Given the description of an element on the screen output the (x, y) to click on. 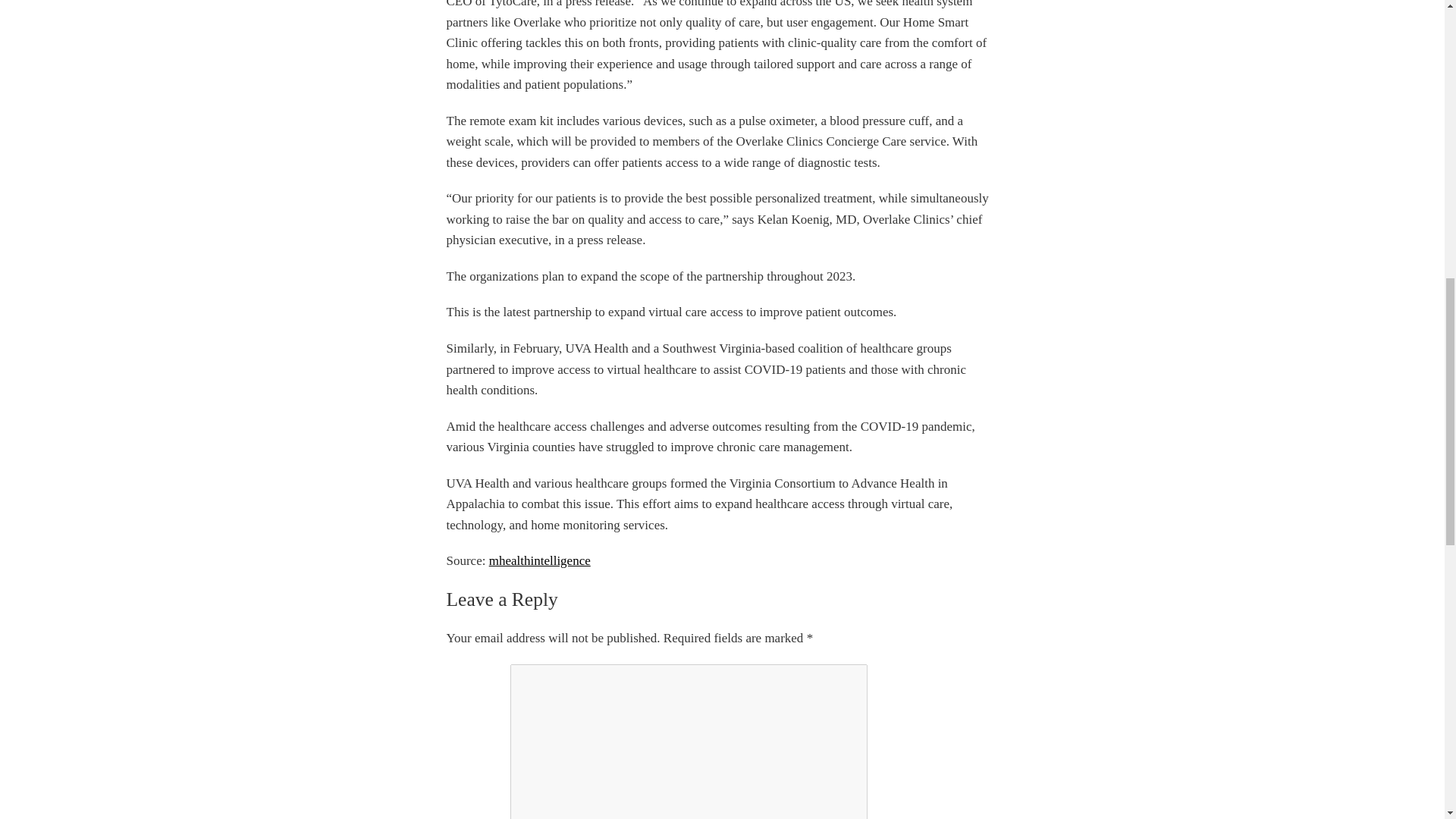
mhealthintelligence (540, 560)
